Given the description of an element on the screen output the (x, y) to click on. 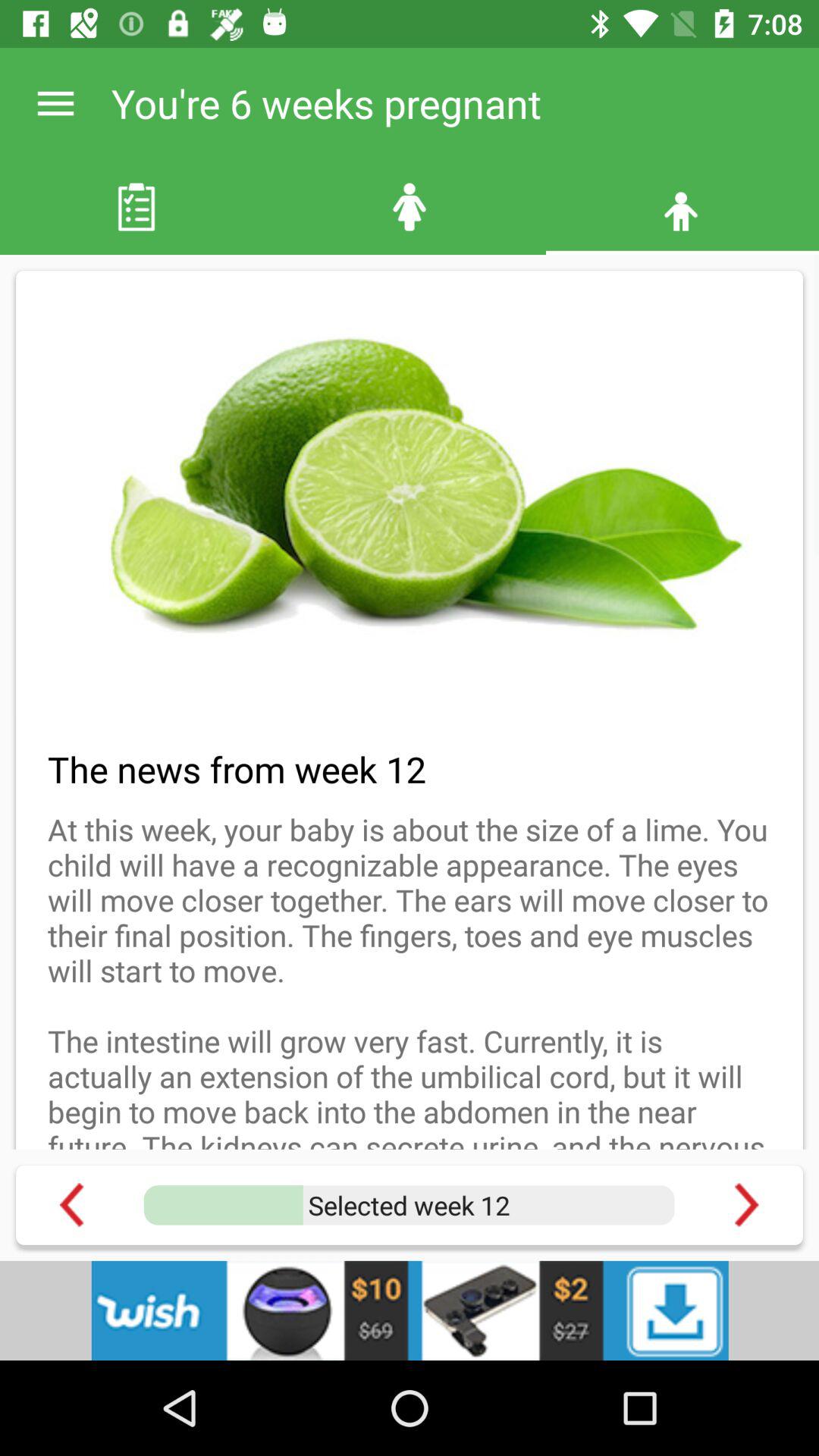
undo button (71, 1204)
